Given the description of an element on the screen output the (x, y) to click on. 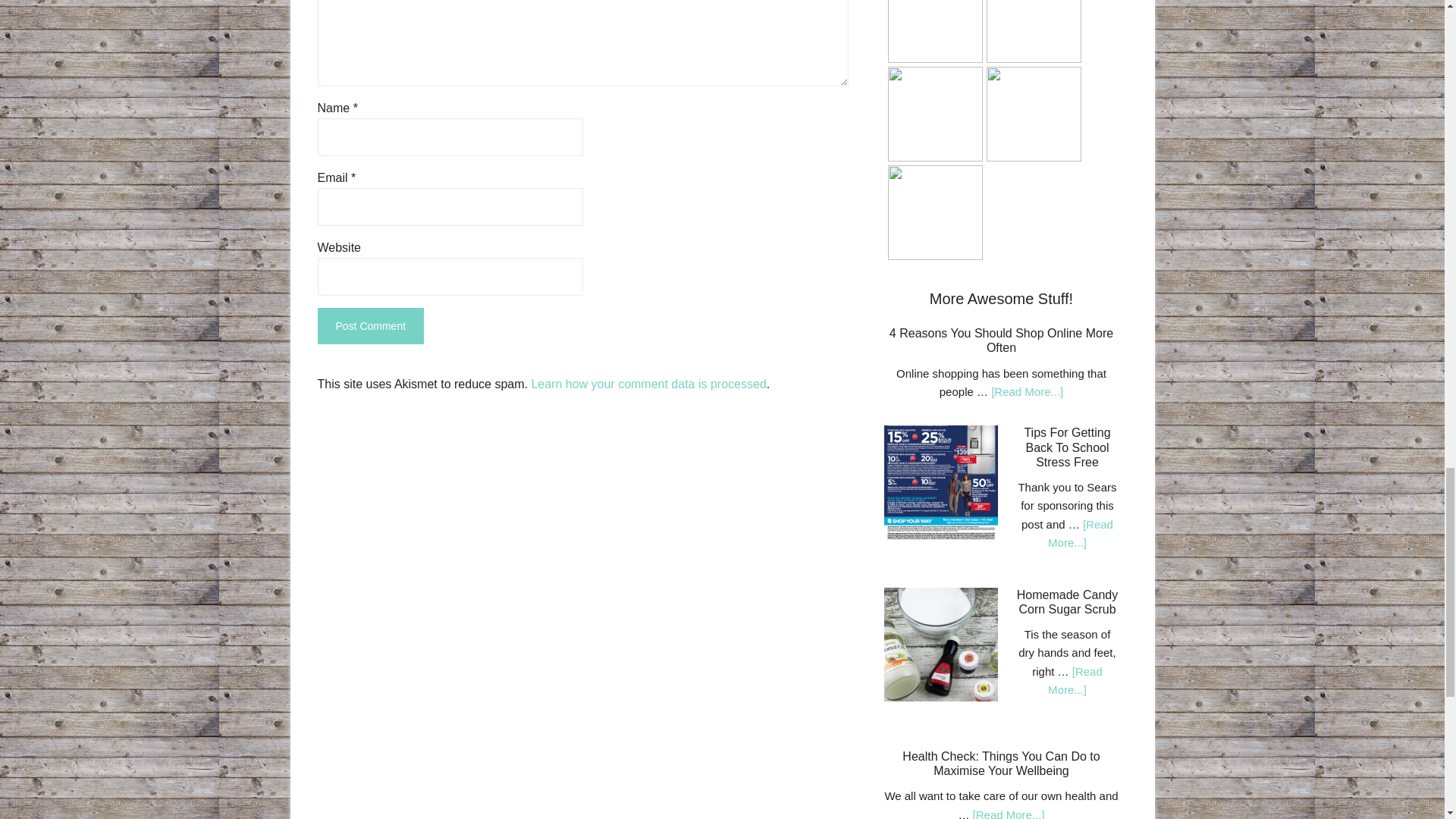
Post Comment (370, 325)
Post Comment (370, 325)
Learn how your comment data is processed (648, 383)
